Given the description of an element on the screen output the (x, y) to click on. 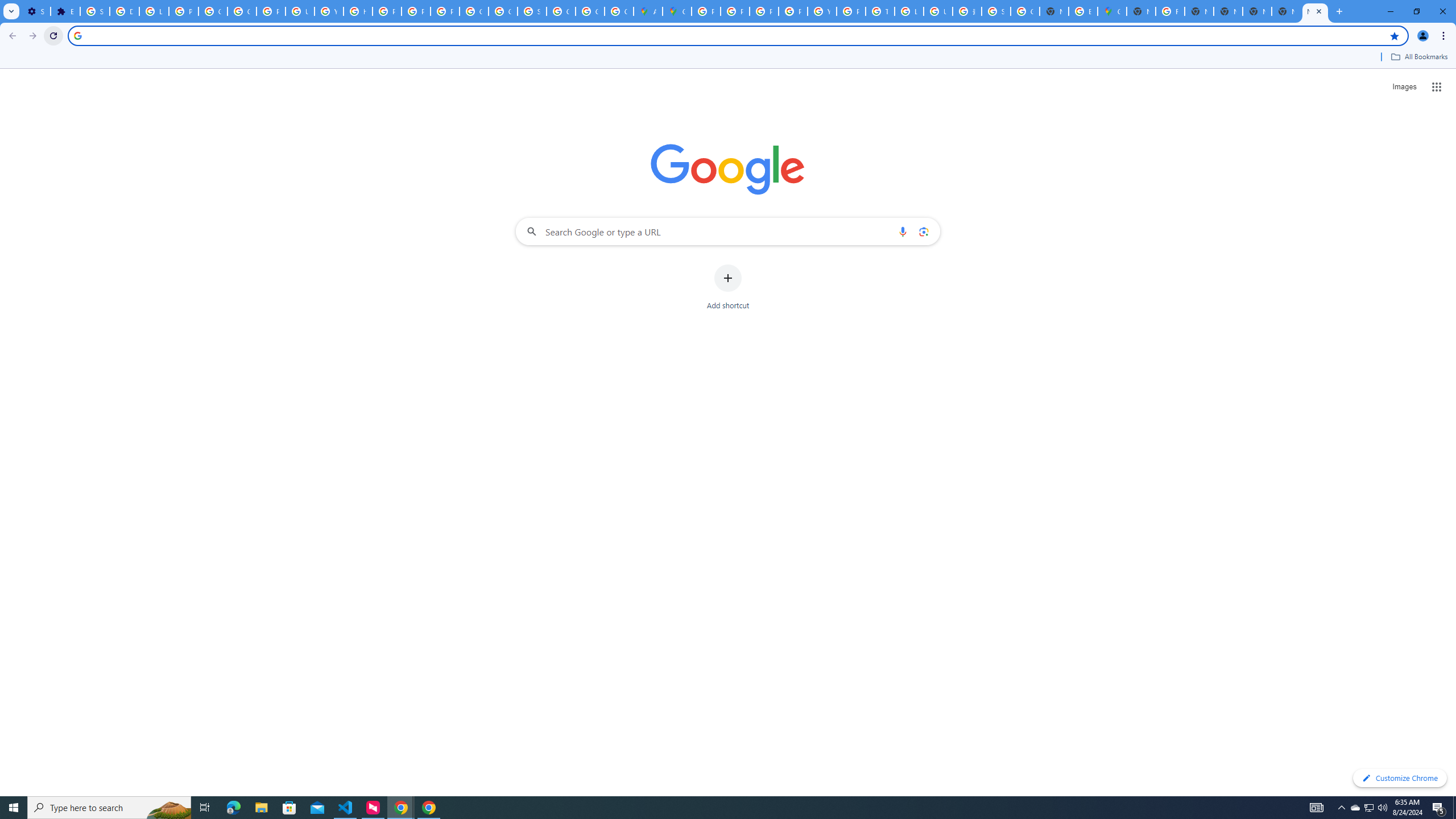
Explore new street-level details - Google Maps Help (1082, 11)
YouTube (821, 11)
Add shortcut (727, 287)
Tips & tricks for Chrome - Google Chrome Help (879, 11)
Delete photos & videos - Computer - Google Photos Help (124, 11)
YouTube (327, 11)
